Given the description of an element on the screen output the (x, y) to click on. 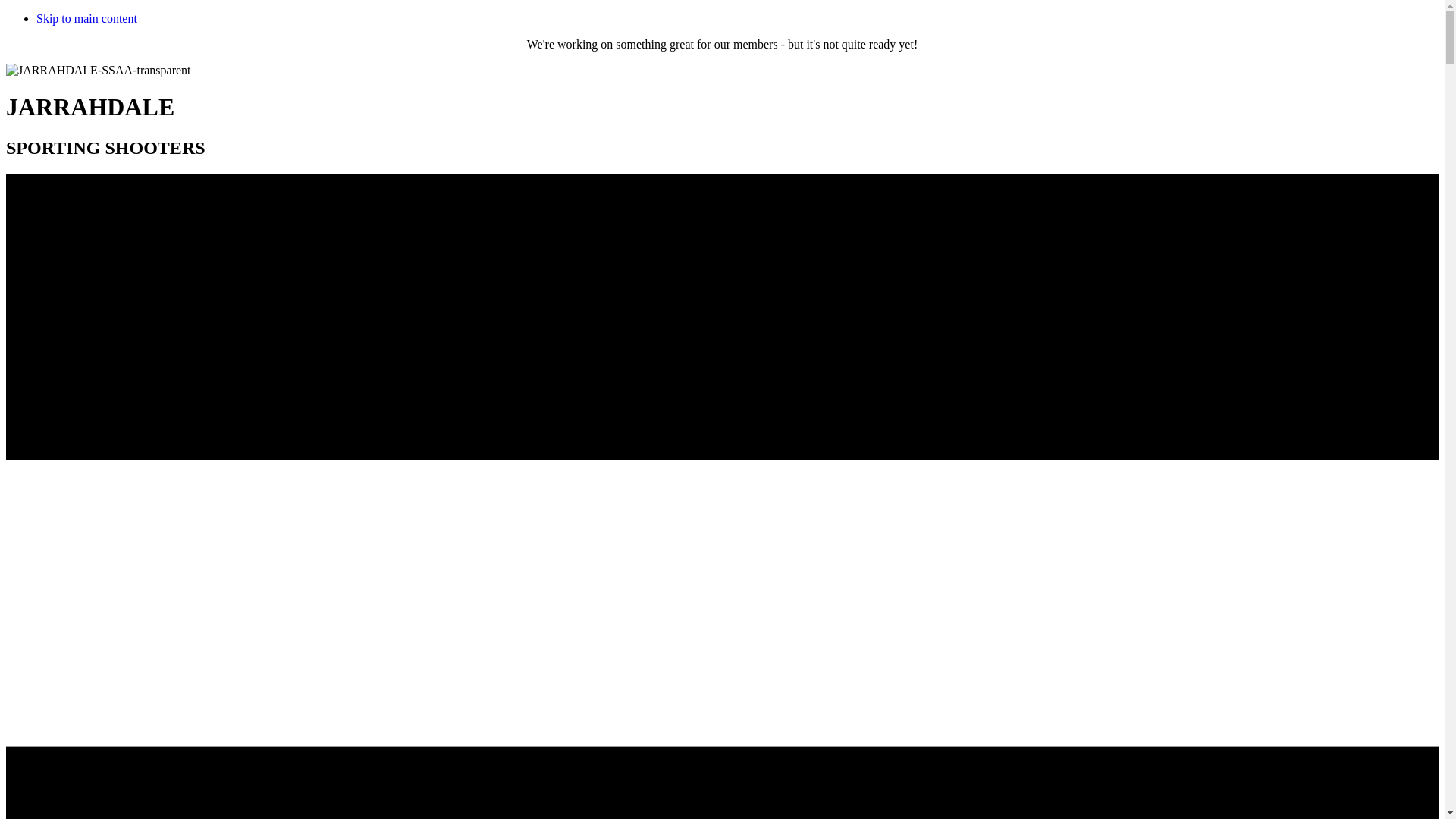
JARRAHDALE-SSAA-transparent Element type: hover (98, 70)
Skip to main content Element type: text (86, 18)
